Given the description of an element on the screen output the (x, y) to click on. 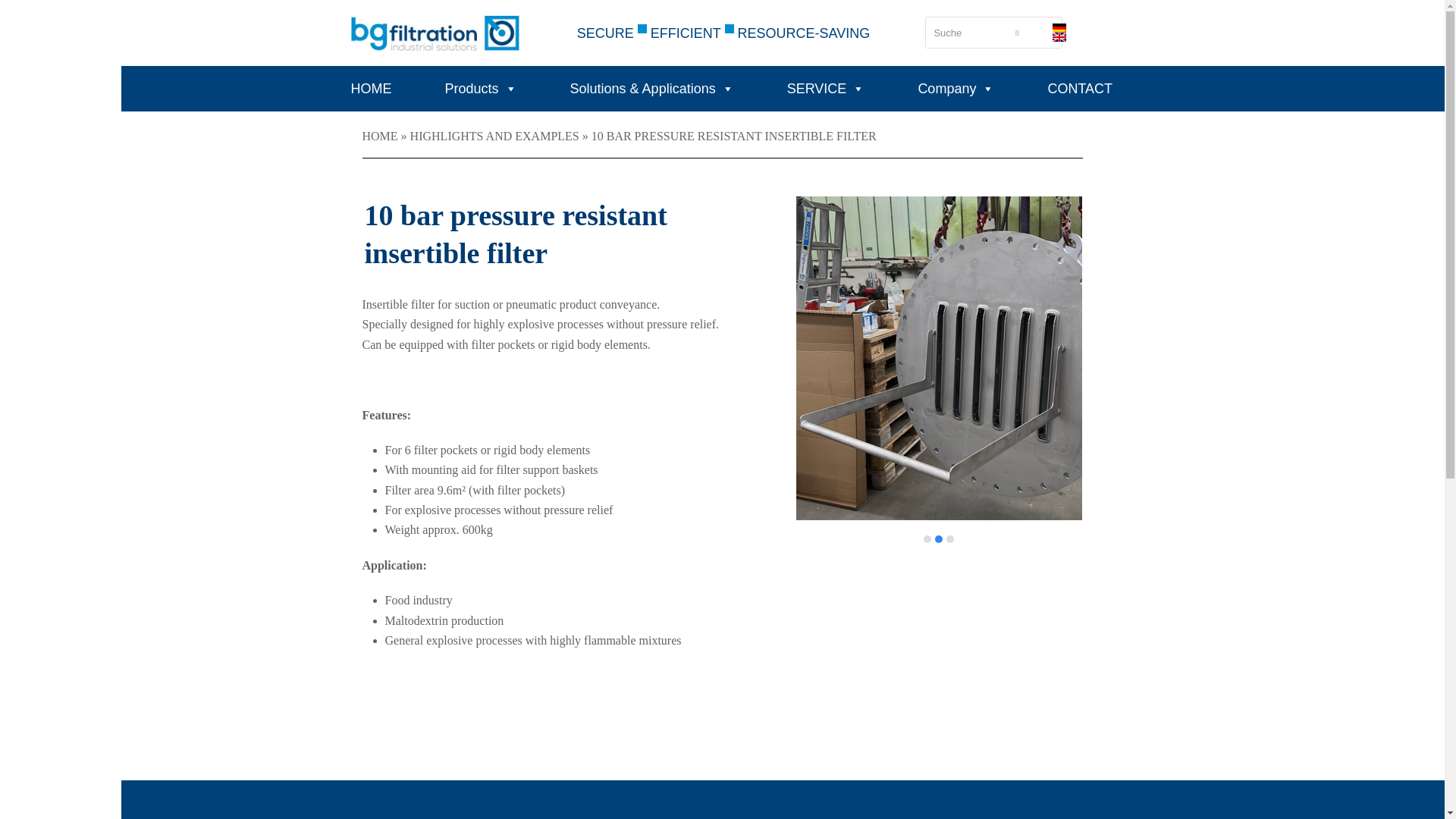
Submit (1016, 32)
Products (487, 88)
HOME (378, 88)
